Given the description of an element on the screen output the (x, y) to click on. 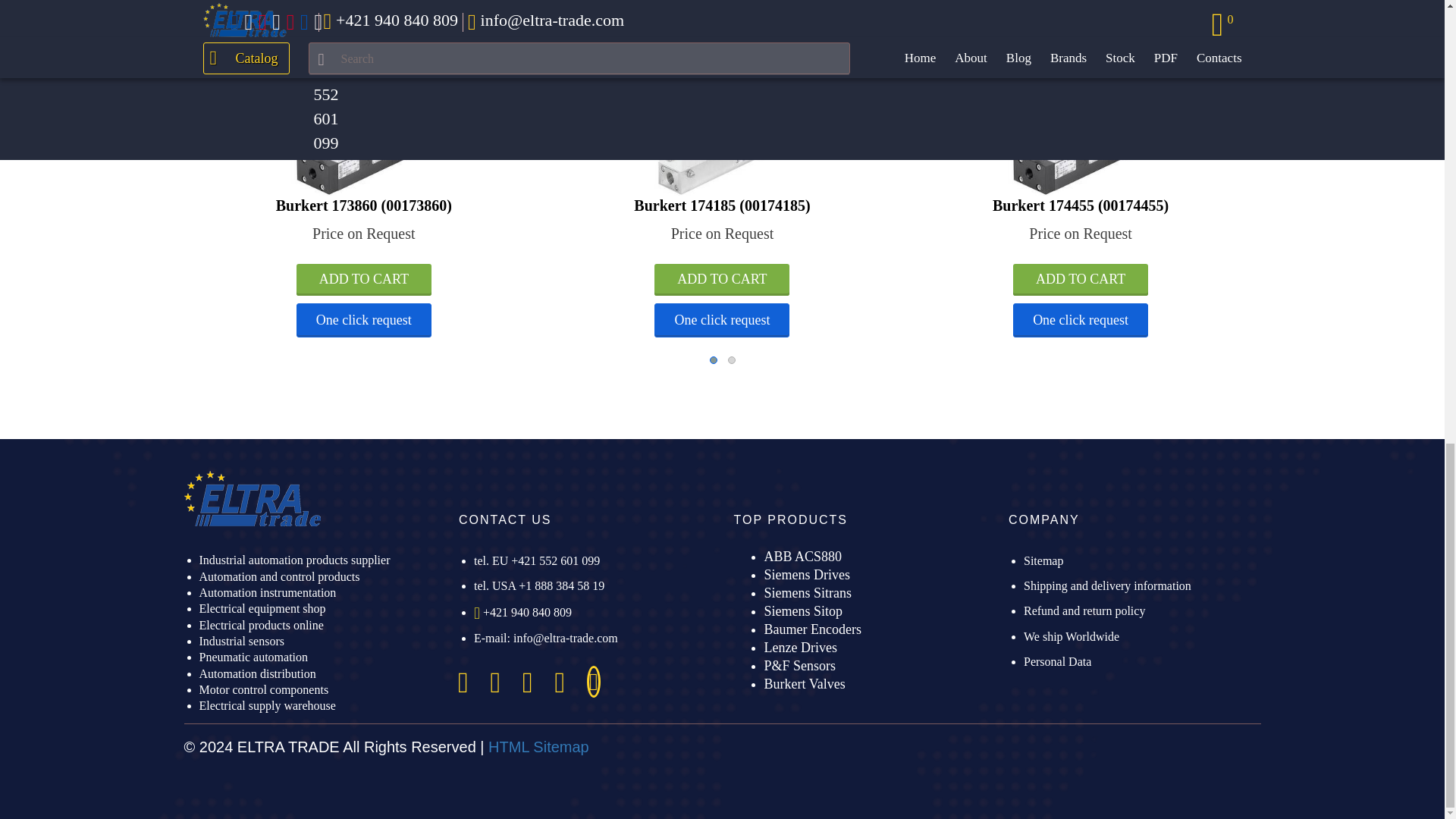
One click request (363, 319)
Add to cart (363, 279)
Add to cart (36, 279)
Add to cart (721, 279)
Add to cart (363, 279)
Add to cart (1080, 279)
